Given the description of an element on the screen output the (x, y) to click on. 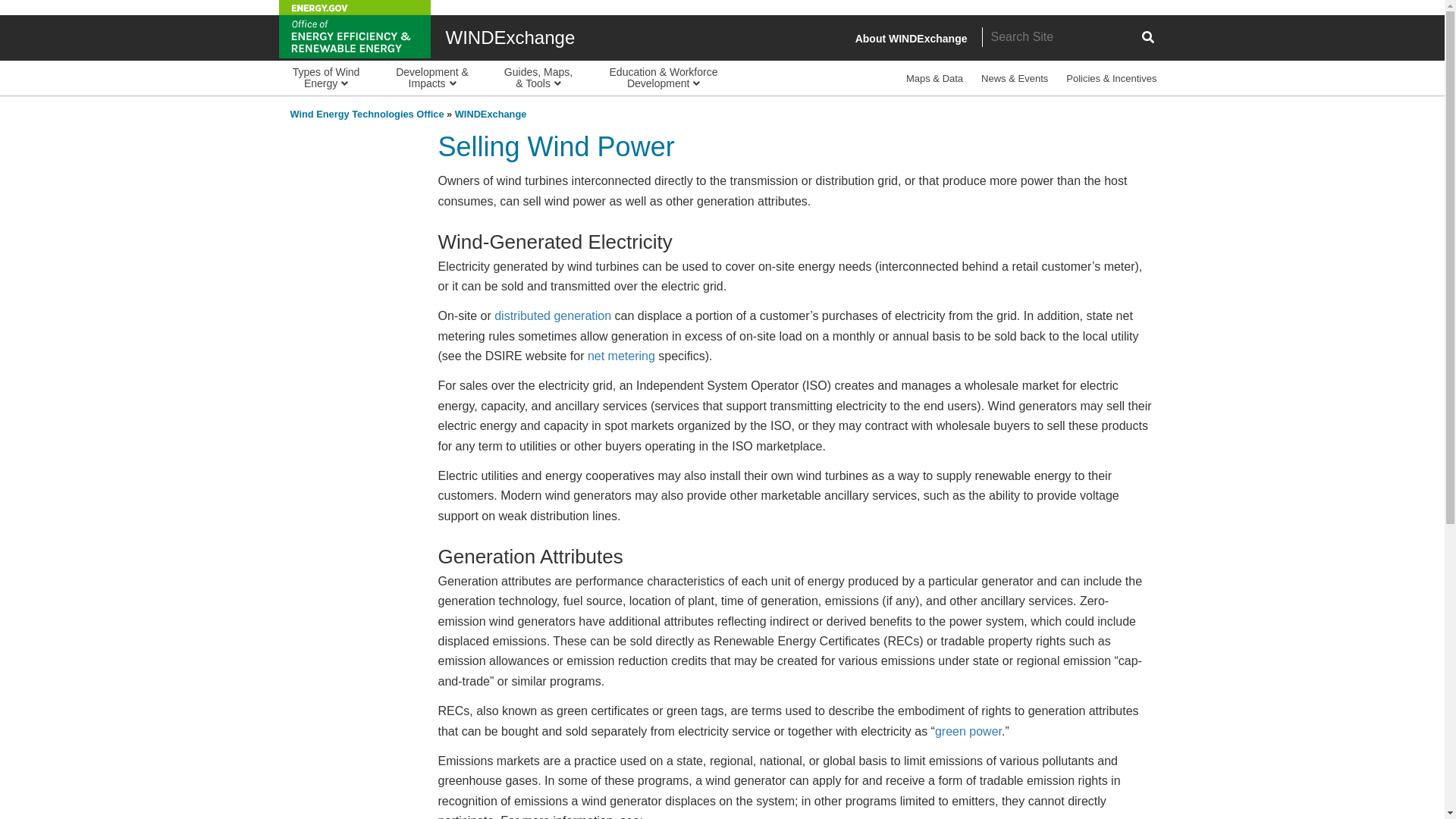
distributed generation (553, 315)
net metering (621, 355)
WINDExchange (490, 113)
Types of Wind Energy (326, 77)
WINDExchange (510, 37)
Wind Energy Technologies Office (366, 113)
green power (967, 730)
About WINDExchange (912, 38)
